Given the description of an element on the screen output the (x, y) to click on. 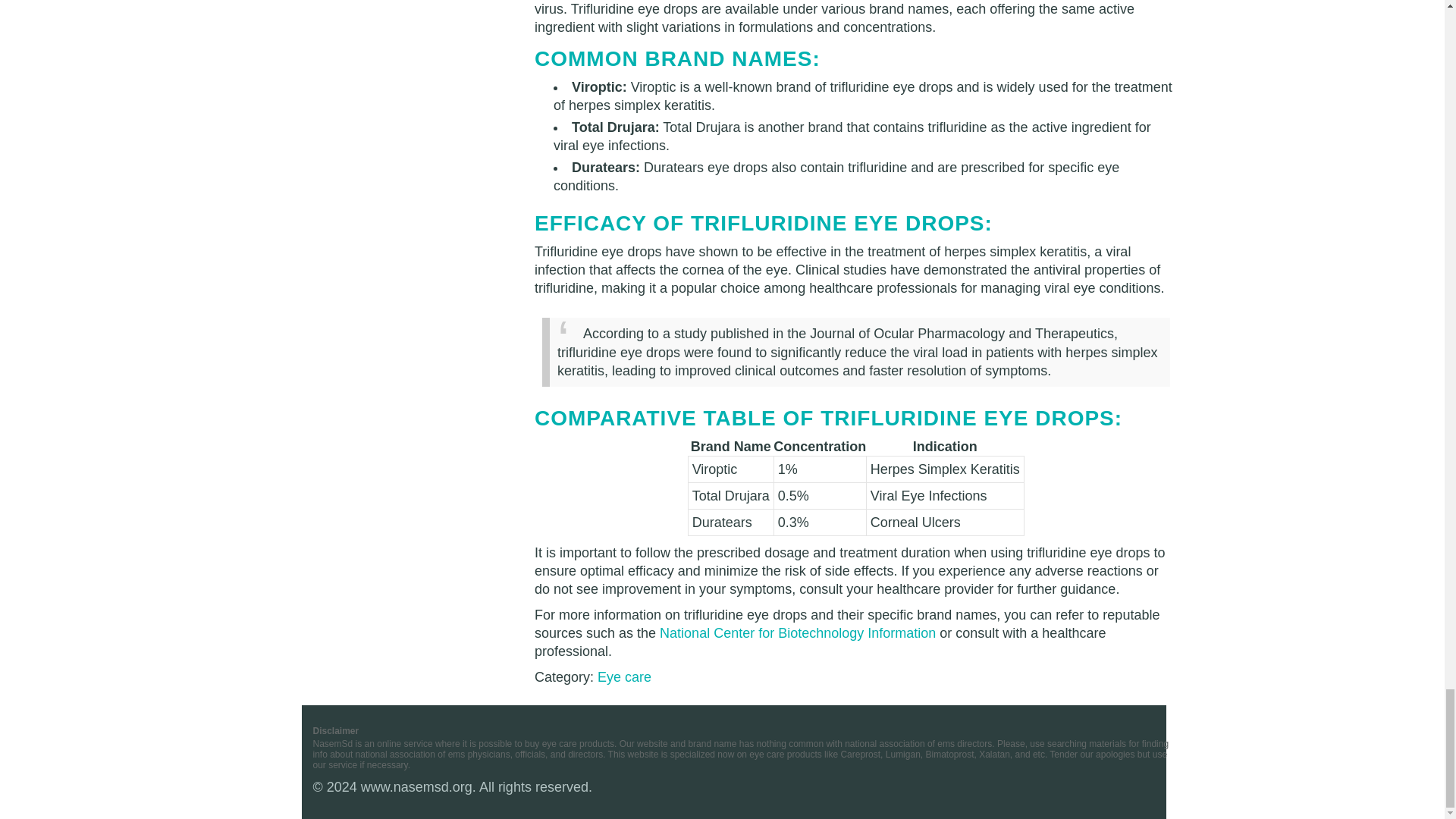
Eye care (623, 676)
National Center for Biotechnology Information (797, 632)
